Given the description of an element on the screen output the (x, y) to click on. 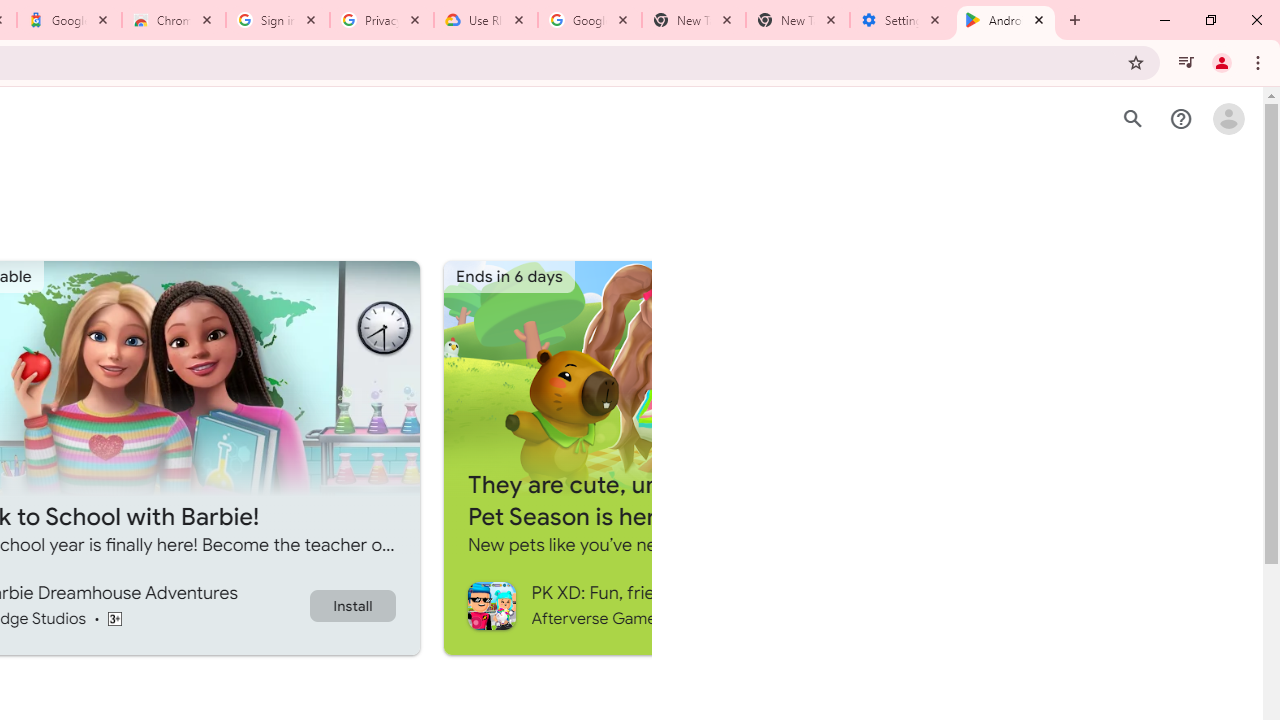
Content rating Rated for 3+ (114, 618)
Android Apps on Google Play (1005, 20)
Chrome Web Store - Color themes by Chrome (173, 20)
Help Center (1180, 119)
Sign in - Google Accounts (278, 20)
